Given the description of an element on the screen output the (x, y) to click on. 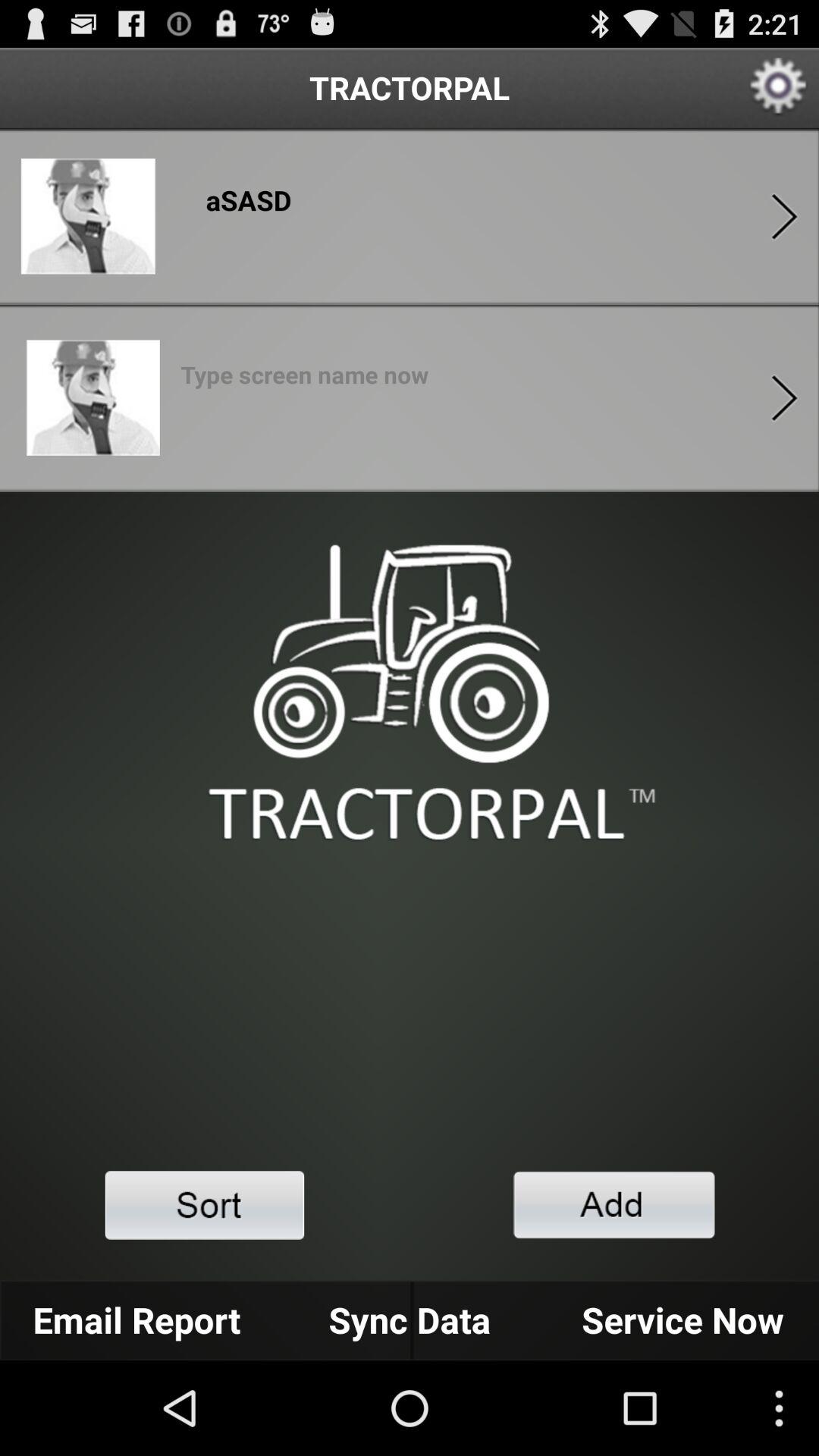
click on next (784, 397)
